Given the description of an element on the screen output the (x, y) to click on. 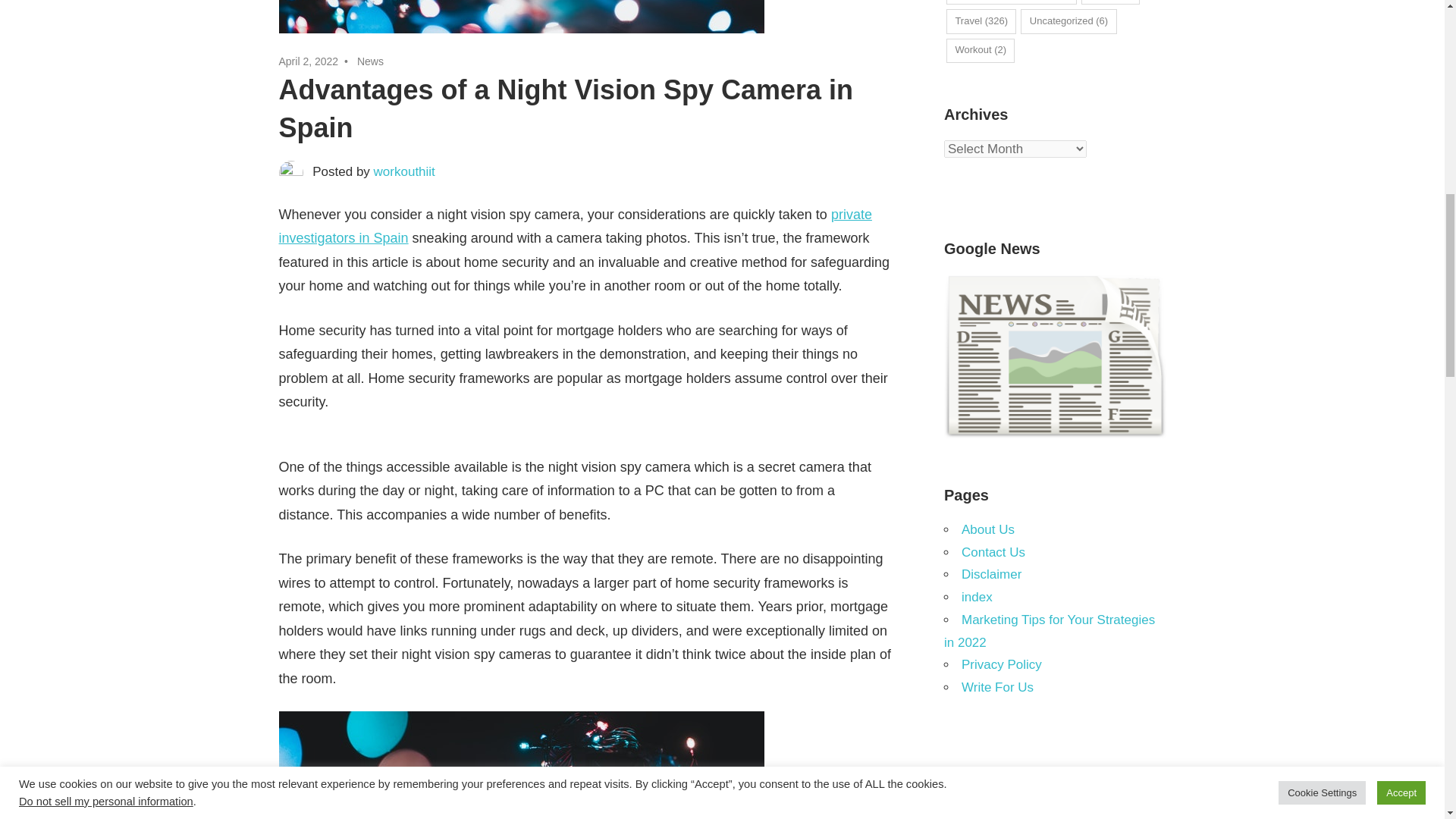
workouthiit (404, 171)
1:57 pm (309, 61)
private investigators in Spain (575, 225)
News (370, 61)
April 2, 2022 (309, 61)
View all posts by workouthiit (404, 171)
